Given the description of an element on the screen output the (x, y) to click on. 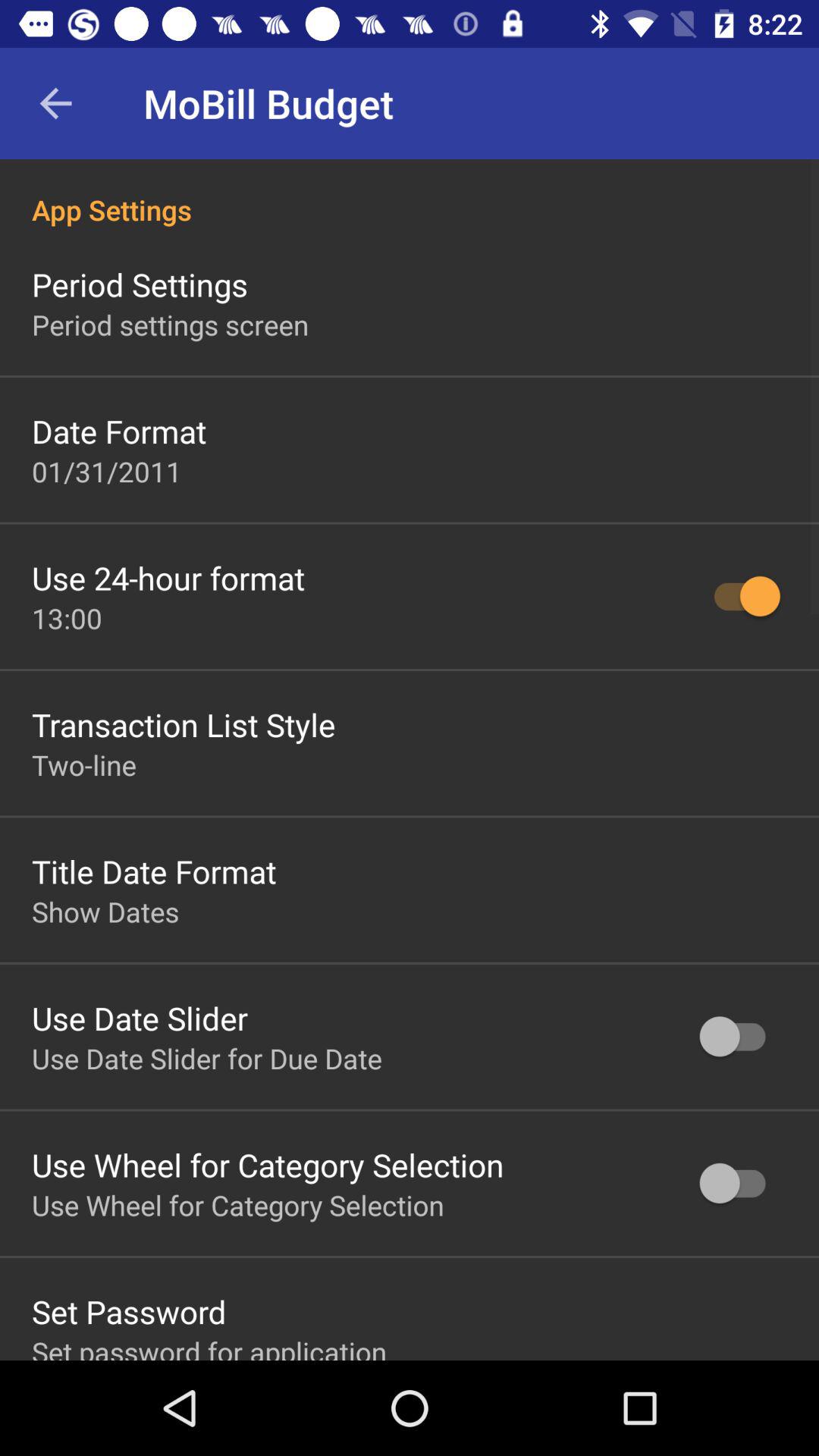
turn off the show dates item (105, 911)
